Given the description of an element on the screen output the (x, y) to click on. 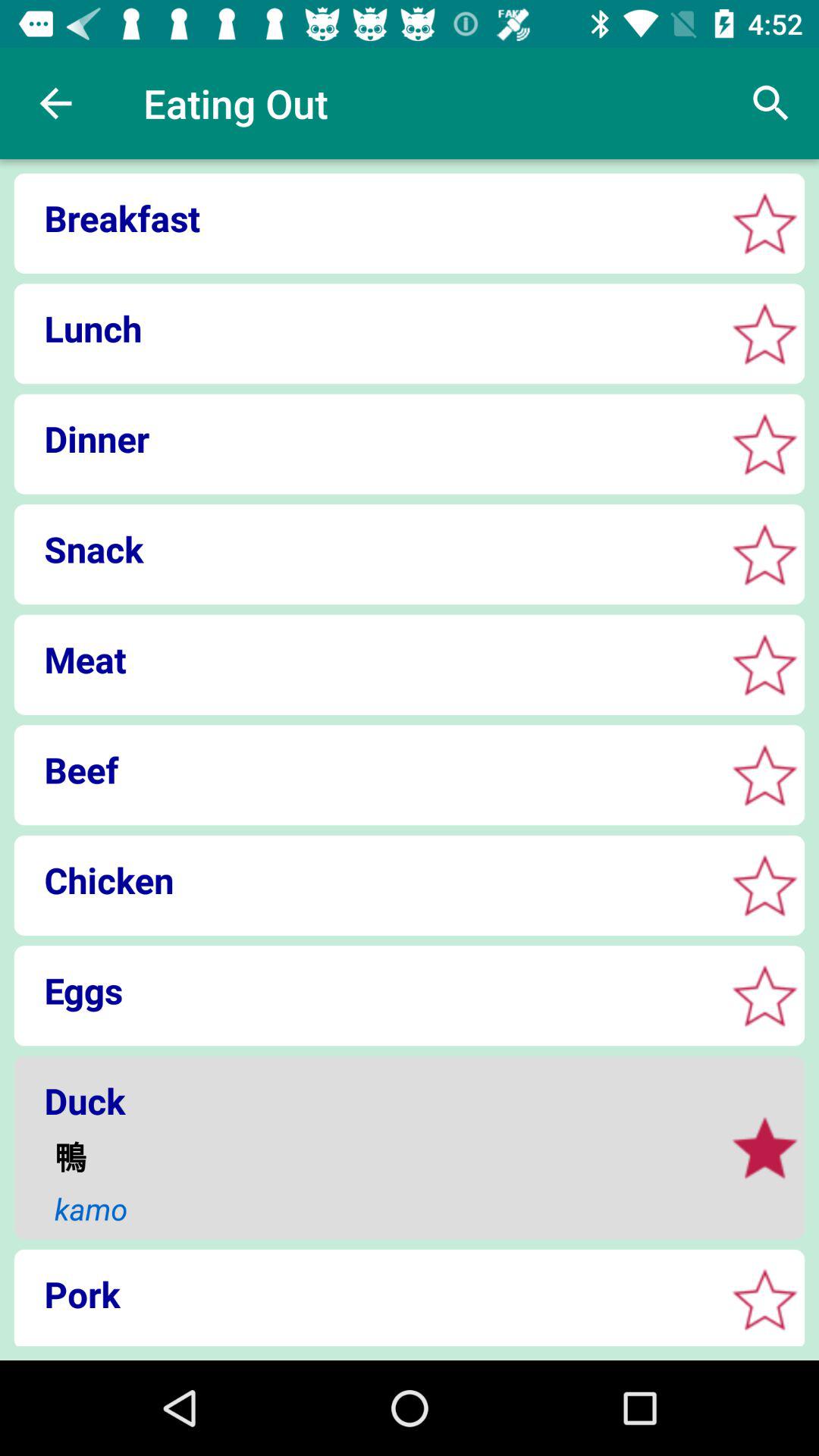
click the star box (764, 1299)
